Given the description of an element on the screen output the (x, y) to click on. 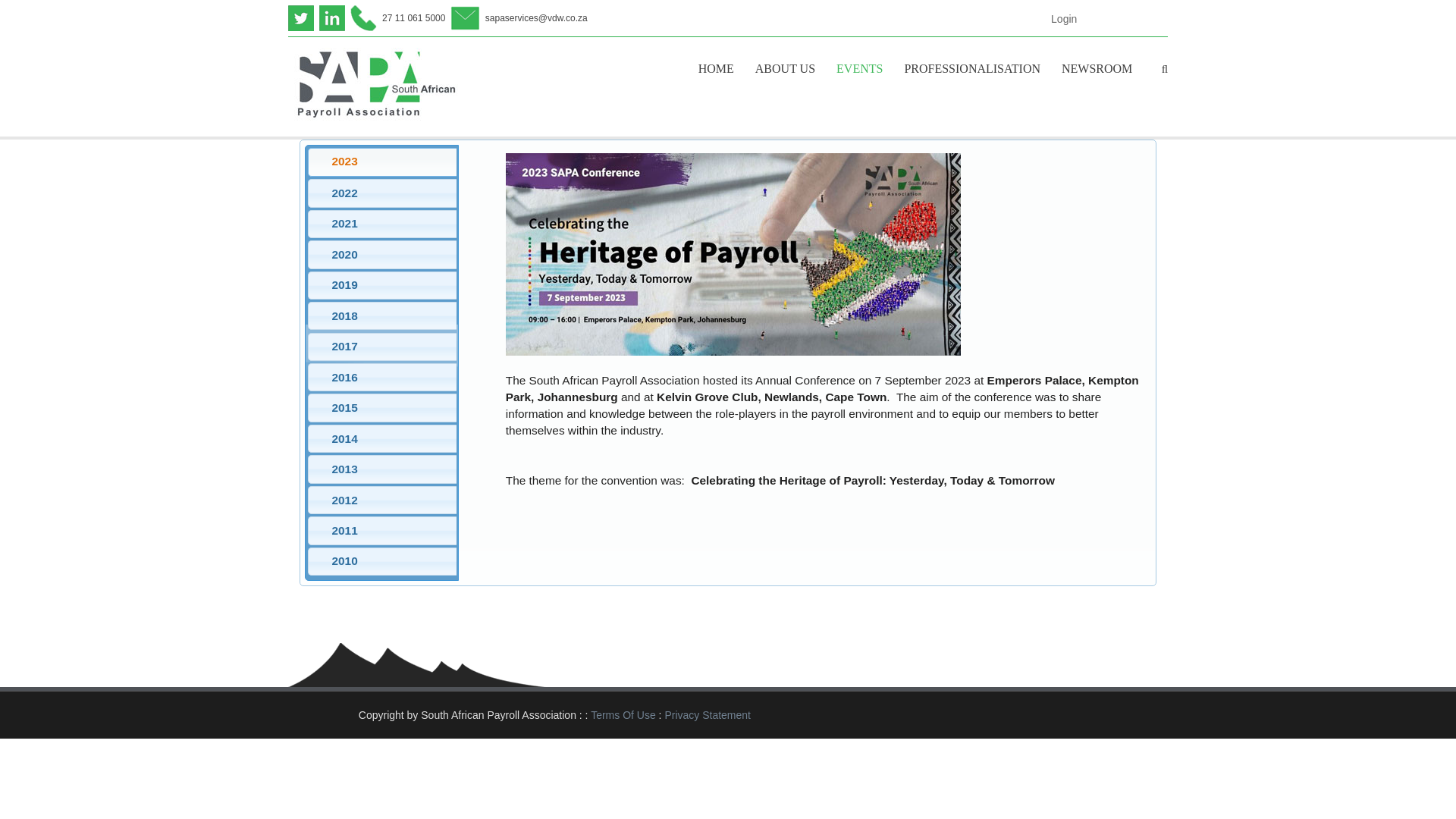
Login (1064, 18)
Login (1064, 18)
EVENTS (859, 68)
South African Payroll Association: SAPA (373, 85)
NEWSROOM (1096, 68)
PROFESSIONALISATION (972, 68)
ABOUT US (784, 68)
